Given the description of an element on the screen output the (x, y) to click on. 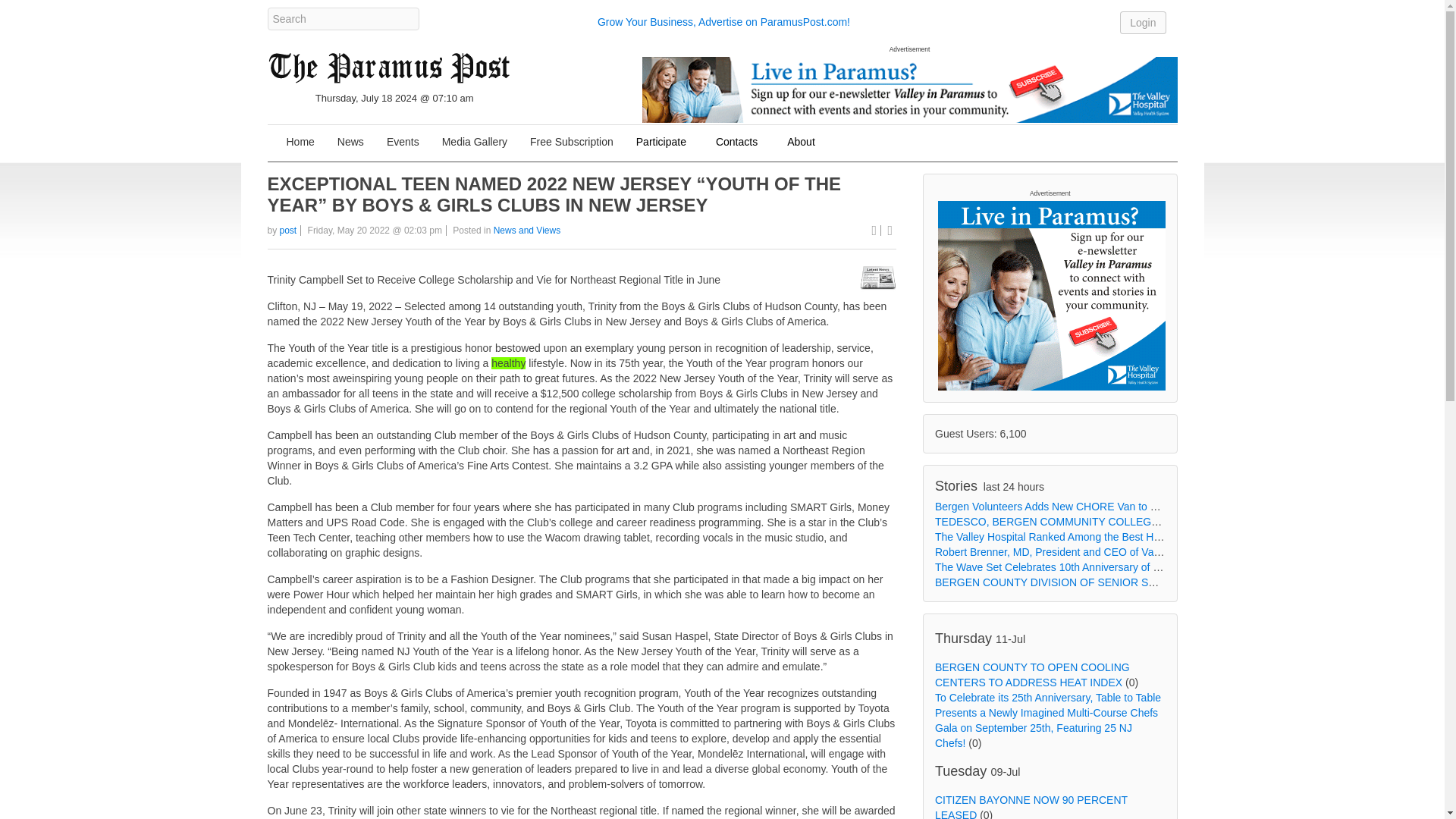
post (288, 230)
Valley Image D (909, 89)
Events (402, 142)
Media Gallery (474, 142)
News and Views (526, 230)
News (350, 142)
Home (299, 142)
Grow Your Business, Advertise on ParamusPost.com! (723, 21)
Free Subscription (571, 142)
Login (1142, 21)
